Given the description of an element on the screen output the (x, y) to click on. 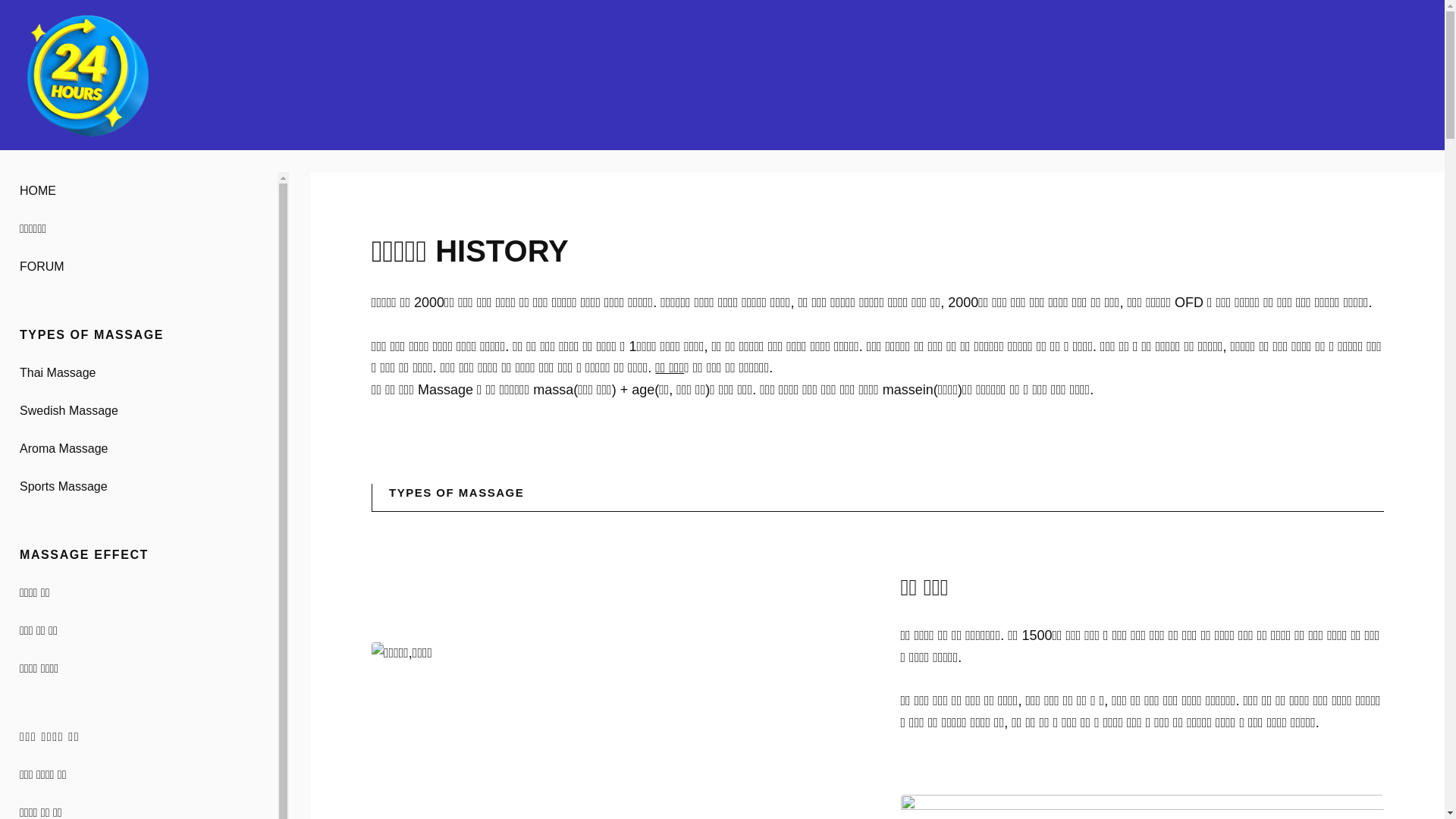
Sports Massage Element type: text (138, 486)
HOME Element type: text (138, 191)
Aroma Massage Element type: text (138, 448)
MASSAGE EFFECT Element type: text (138, 555)
Swedish Massage Element type: text (138, 410)
Thai Massage Element type: text (138, 373)
FORUM Element type: text (138, 266)
TYPES OF MASSAGE Element type: text (138, 335)
